Given the description of an element on the screen output the (x, y) to click on. 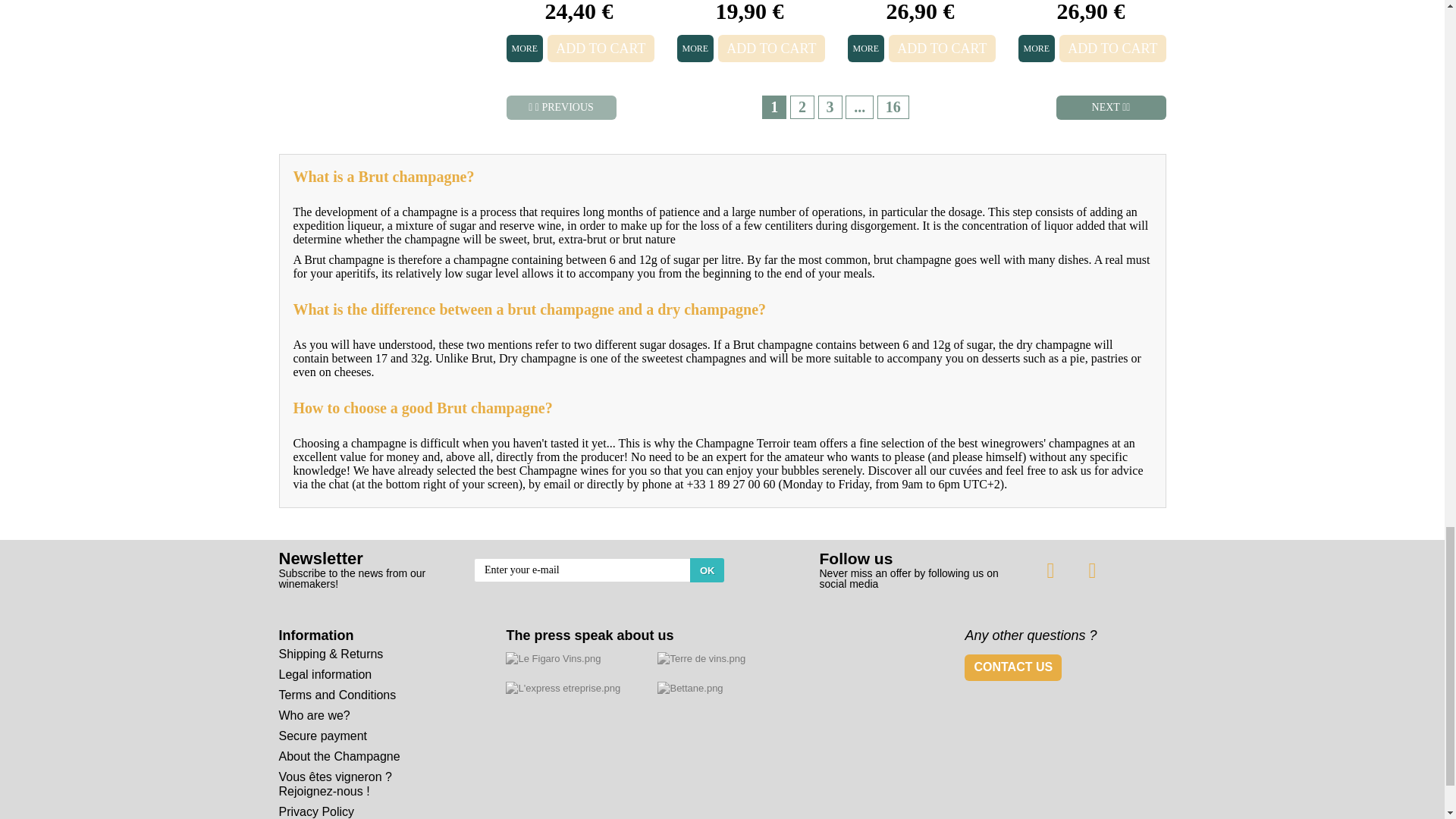
Enter your e-mail (598, 569)
